Given the description of an element on the screen output the (x, y) to click on. 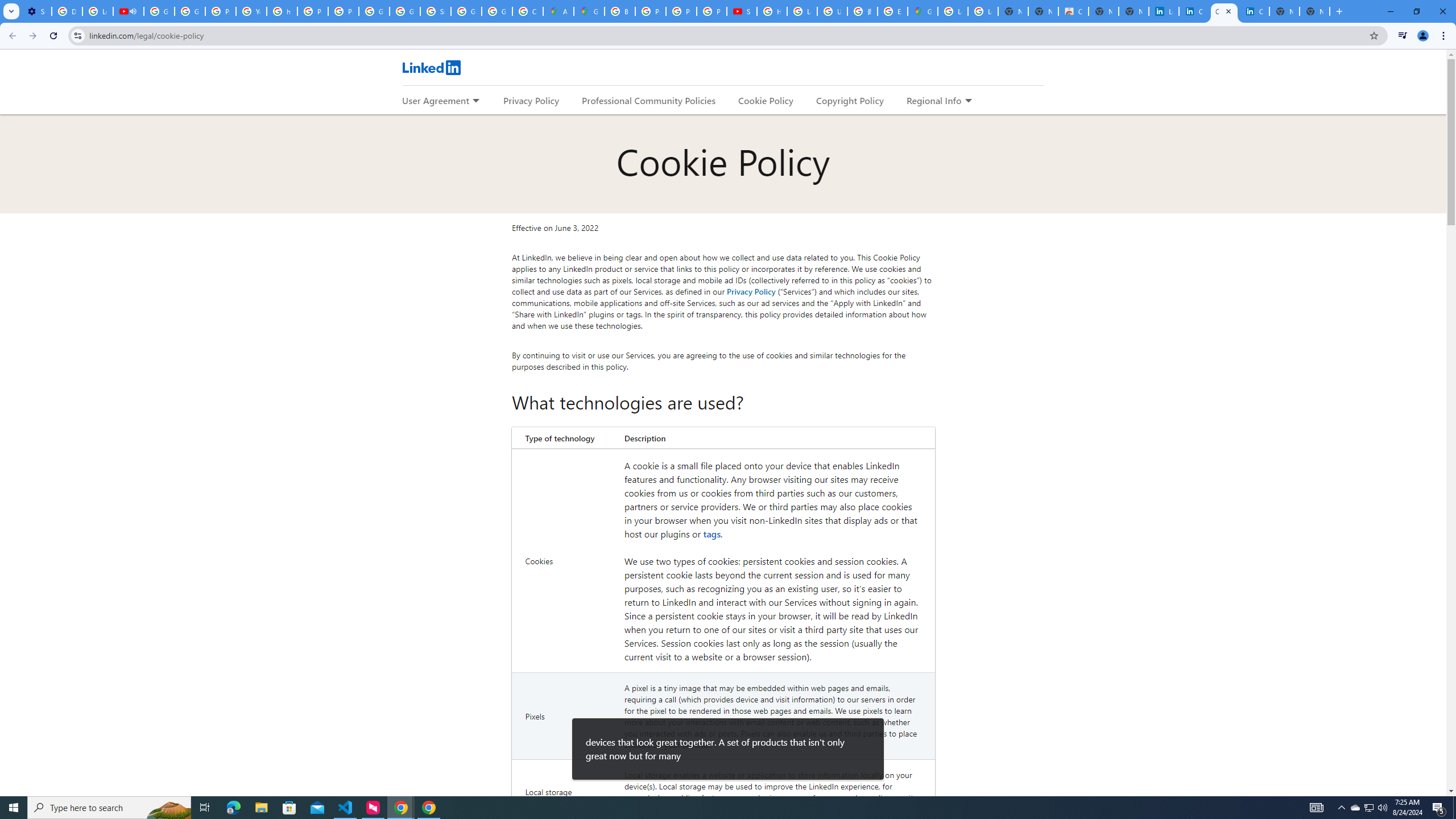
Delete photos & videos - Computer - Google Photos Help (66, 11)
Control your music, videos, and more (1402, 35)
Chrome Web Store (1072, 11)
Cookie Policy | LinkedIn (1193, 11)
Google Maps (922, 11)
Expand to show more links for Regional Info (967, 101)
Create your Google Account (527, 11)
Professional Community Policies (649, 100)
Address and search bar (725, 35)
